Given the description of an element on the screen output the (x, y) to click on. 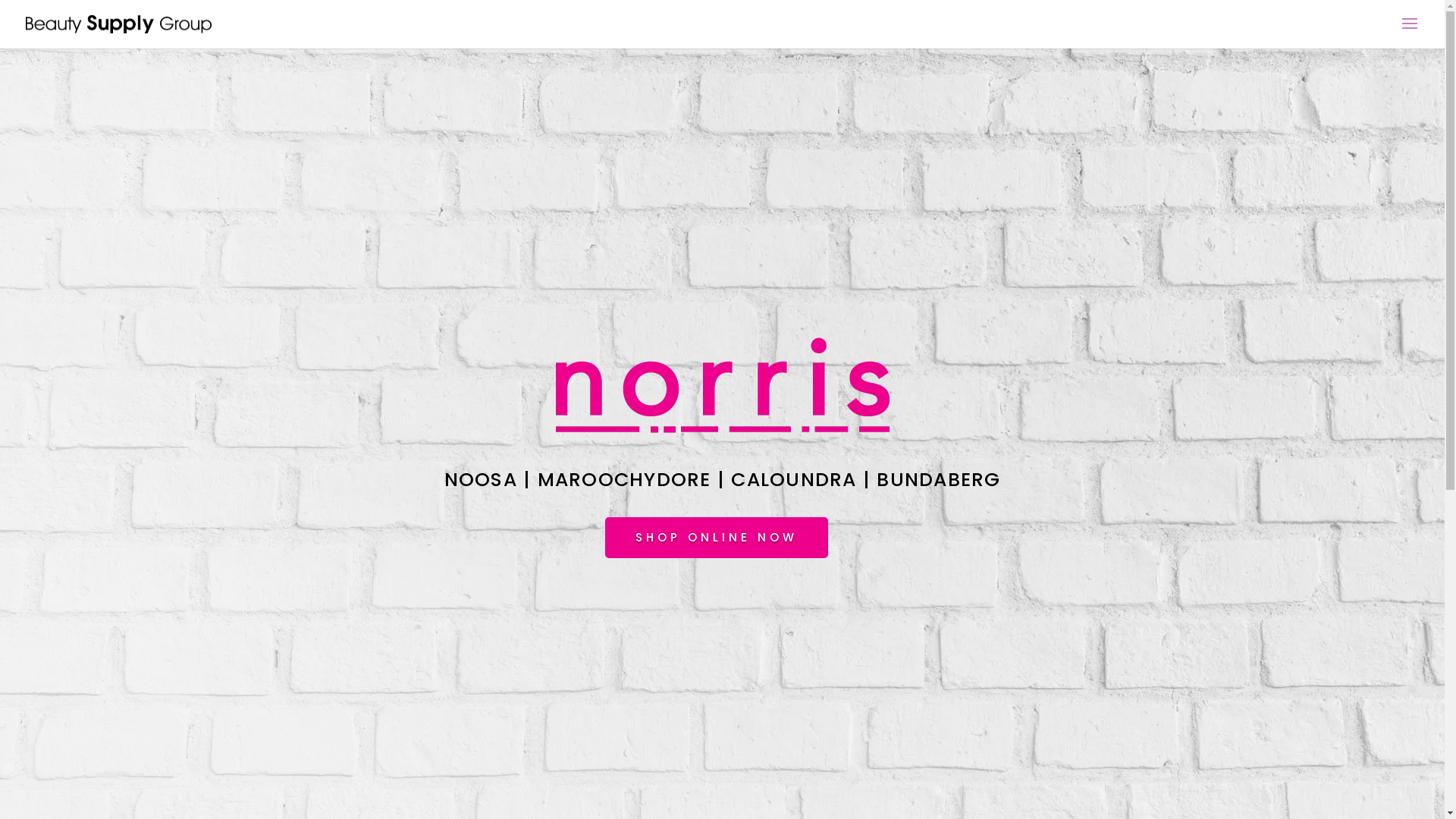
SHOP ONLINE NOW Element type: text (716, 537)
